Given the description of an element on the screen output the (x, y) to click on. 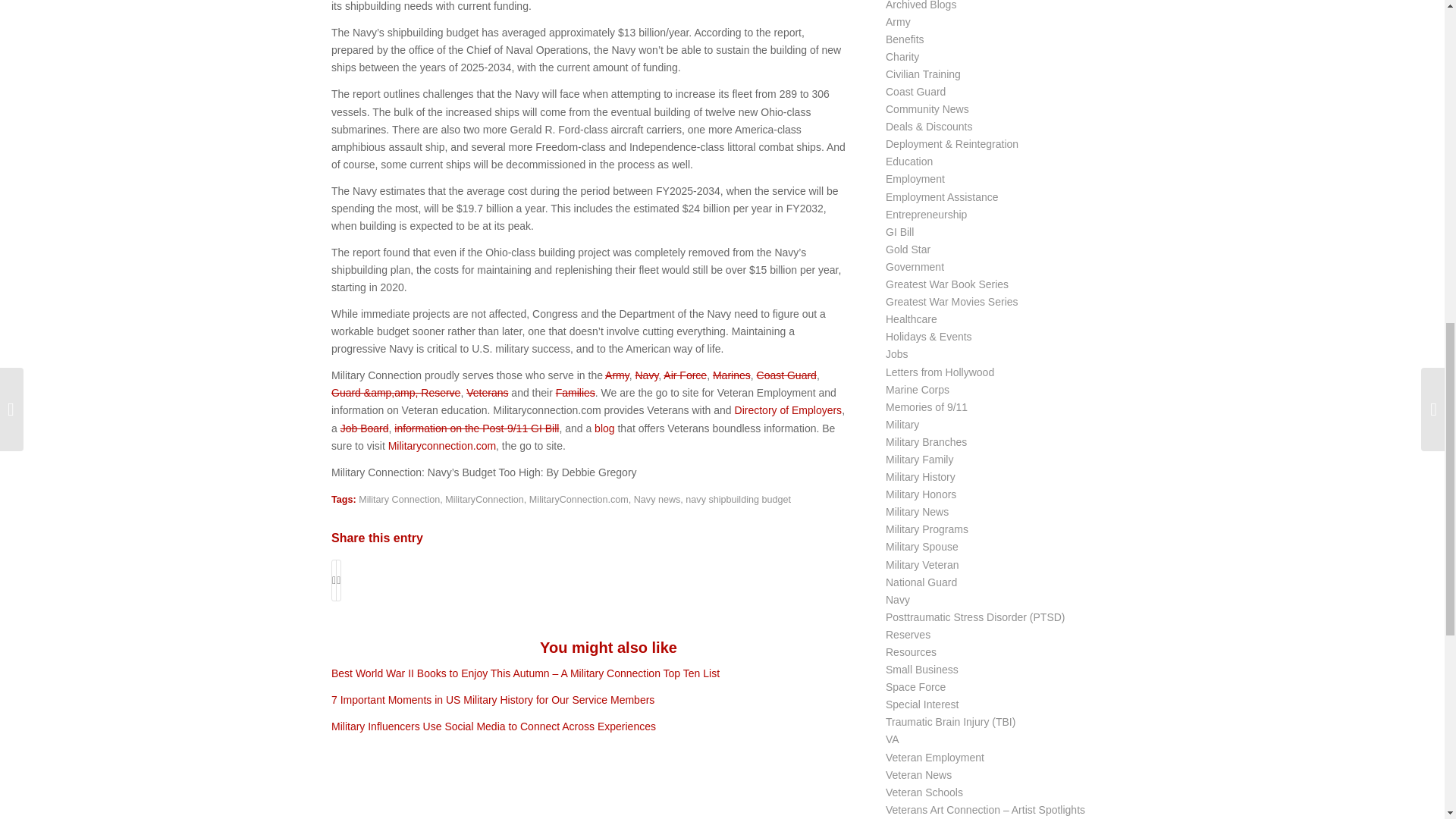
blog (604, 428)
Navy news (657, 499)
Militaryconnection.com (442, 445)
Military Connection (398, 499)
Army (616, 375)
Navy (646, 375)
MilitaryConnection (484, 499)
Coast Guard (786, 375)
Marines (732, 375)
Families (575, 392)
